Given the description of an element on the screen output the (x, y) to click on. 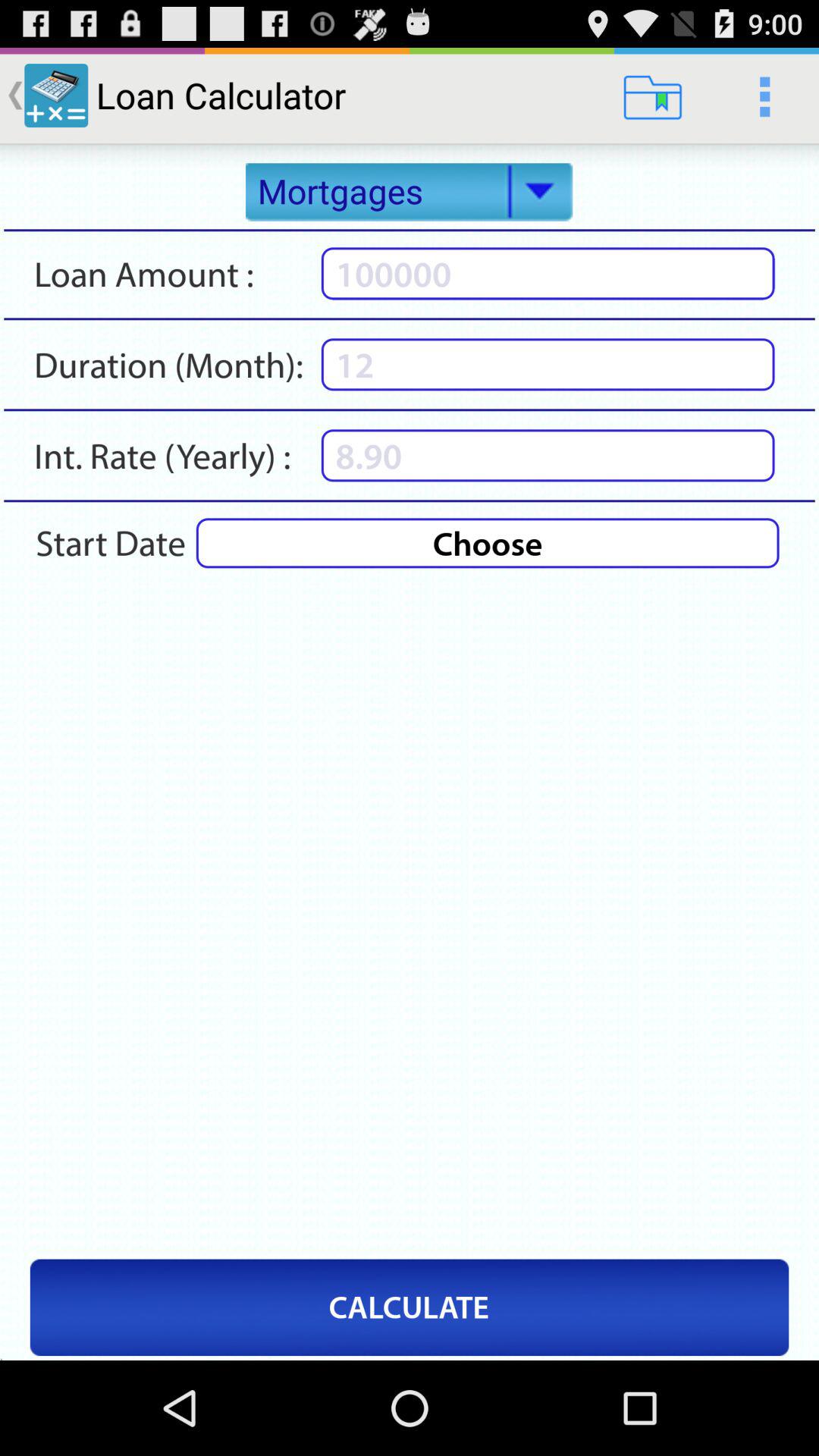
enter a numerical value (547, 273)
